Given the description of an element on the screen output the (x, y) to click on. 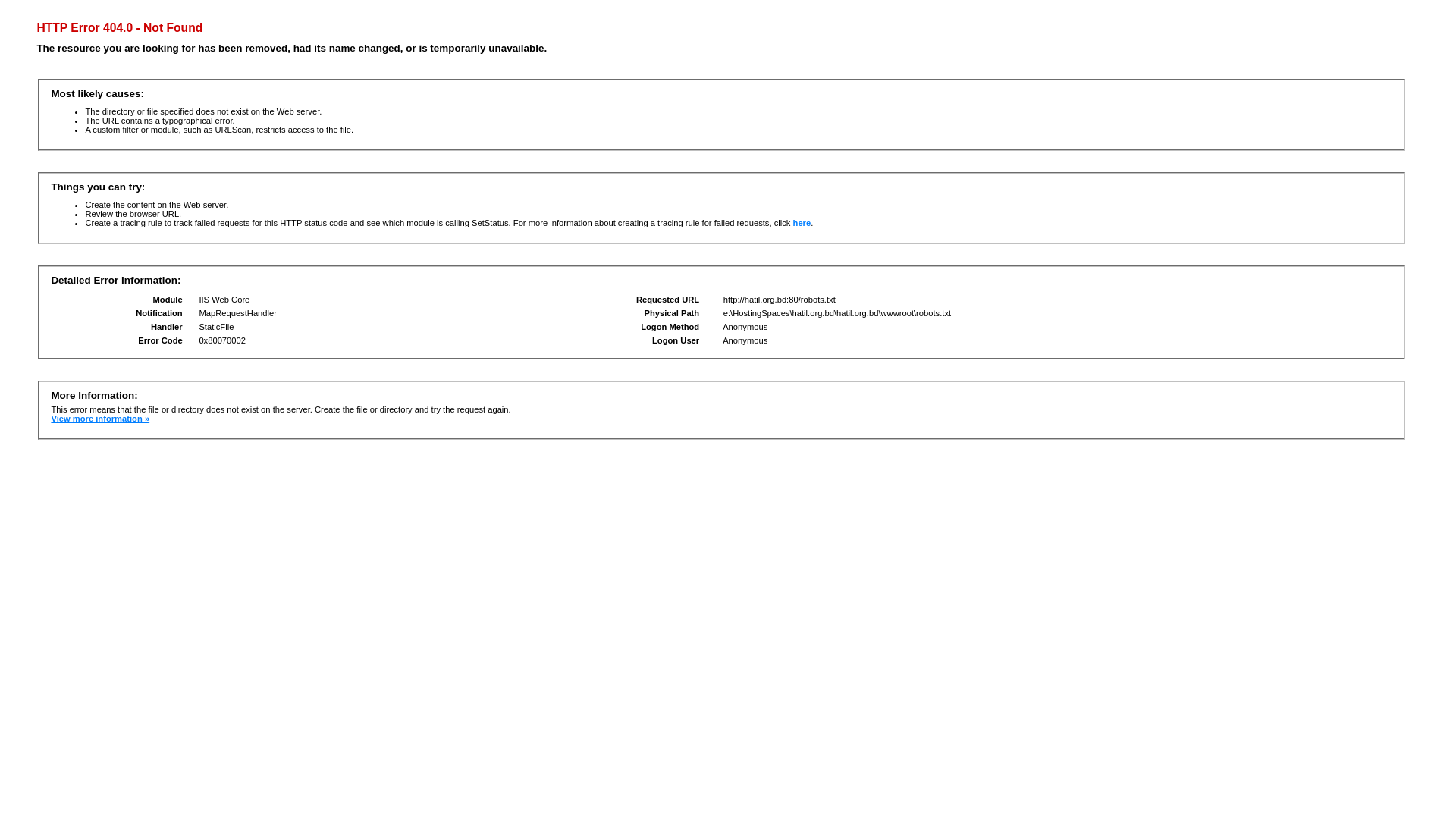
here Element type: text (802, 222)
